Given the description of an element on the screen output the (x, y) to click on. 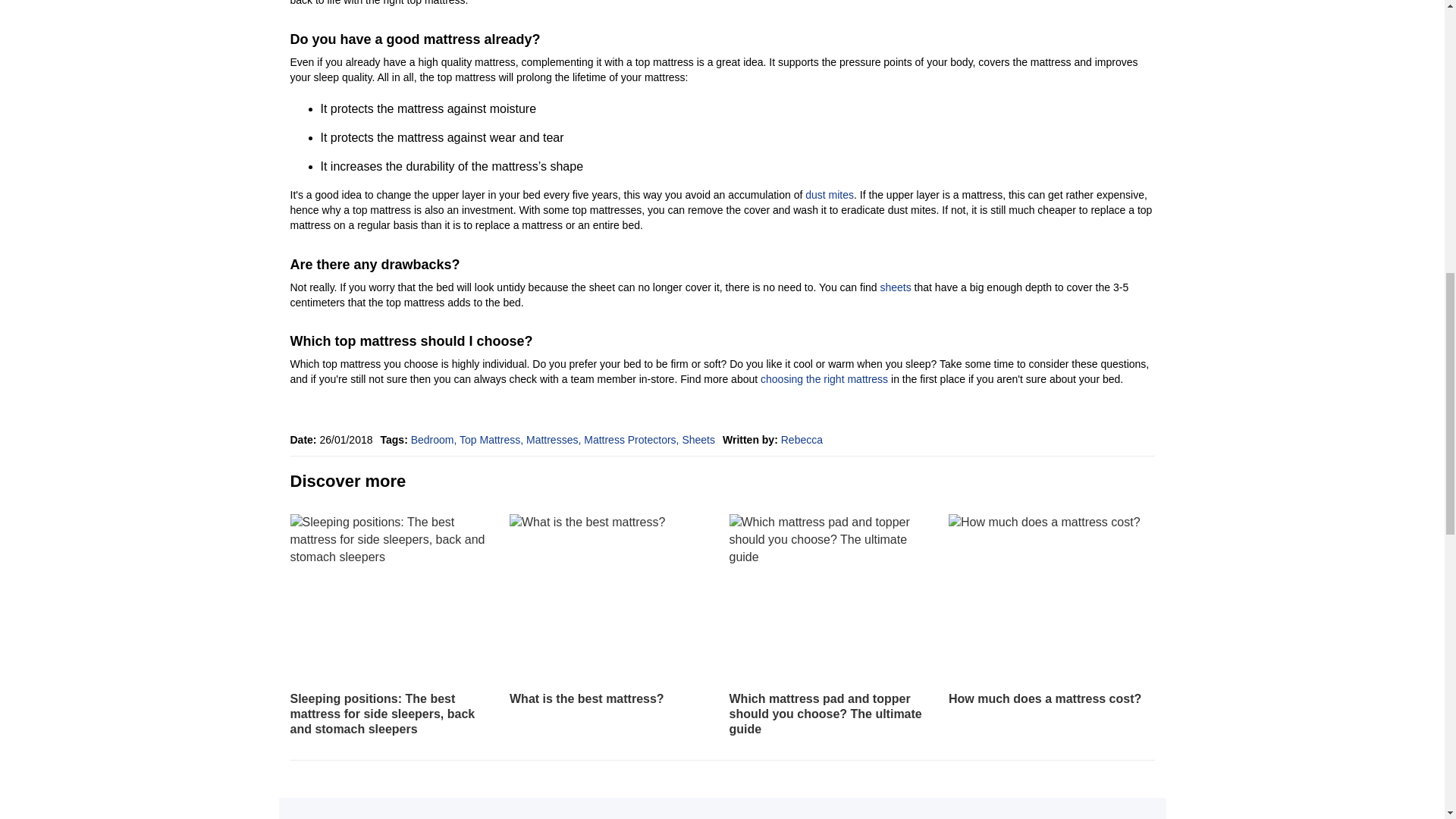
dust mites (829, 194)
Top Mattress (492, 439)
How to choose the right mattress (824, 378)
Learn how to avoid dust mites with JYSK (829, 194)
Sheets from JYSK (895, 287)
choosing the right mattress (824, 378)
sheets (895, 287)
Bedroom (435, 439)
